Given the description of an element on the screen output the (x, y) to click on. 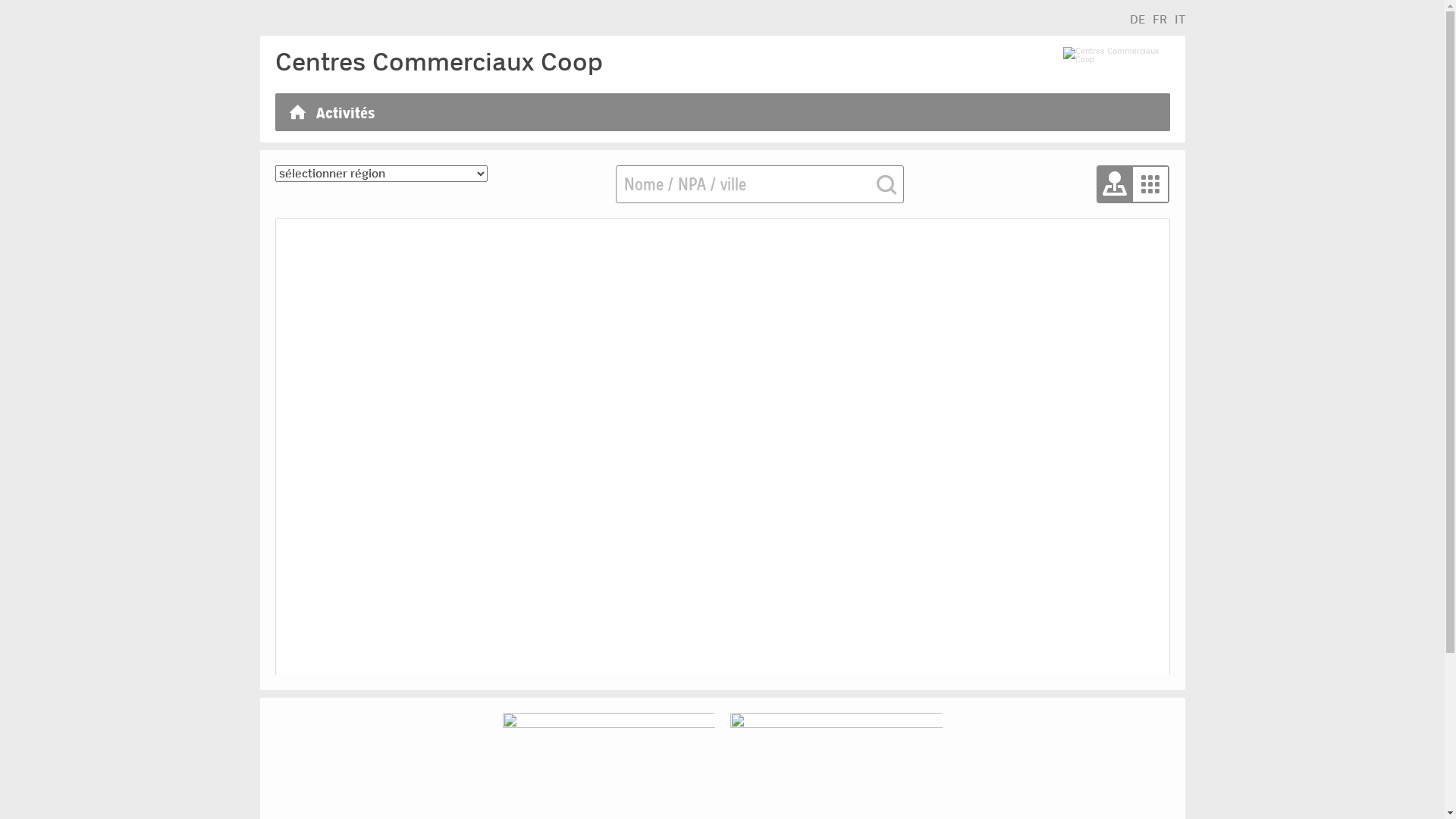
chercher Element type: hover (884, 185)
chercher Element type: text (884, 185)
Centres Commerciaux Coop Element type: hover (1116, 62)
Centres Commerciaux Coop Element type: text (438, 62)
IT Element type: text (1178, 19)
vue cases Element type: hover (1149, 183)
vue carte Element type: hover (1115, 183)
DE Element type: text (1137, 19)
